Given the description of an element on the screen output the (x, y) to click on. 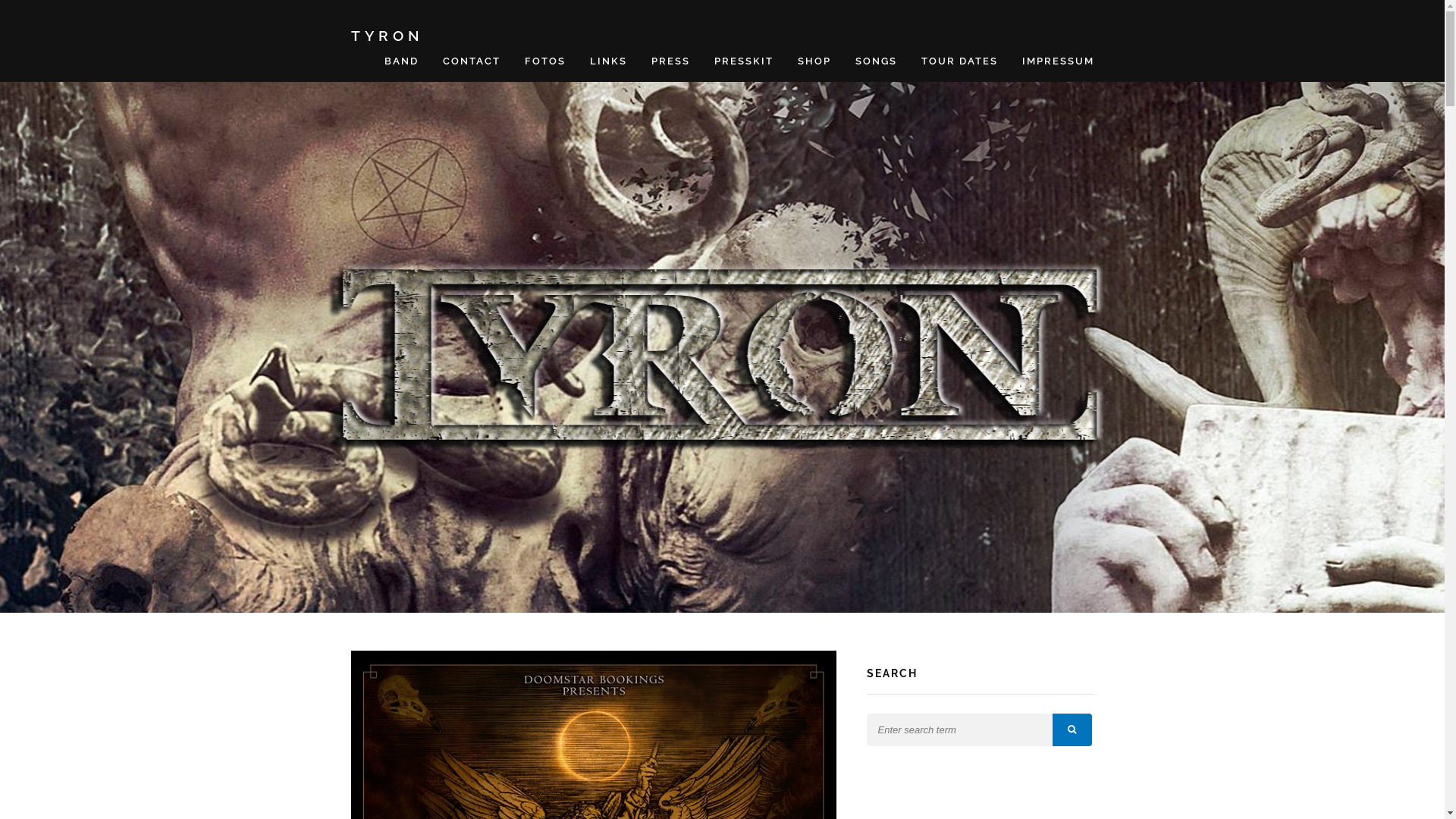
CONTACT Element type: text (471, 61)
PRESSKIT Element type: text (743, 61)
PRESS Element type: text (669, 61)
TOUR DATES Element type: text (958, 61)
FOTOS Element type: text (544, 61)
BAND Element type: text (400, 61)
SONGS Element type: text (876, 61)
SHOP Element type: text (814, 61)
IMPRESSUM Element type: text (1058, 61)
LINKS Element type: text (608, 61)
TYRON Element type: text (386, 35)
